Given the description of an element on the screen output the (x, y) to click on. 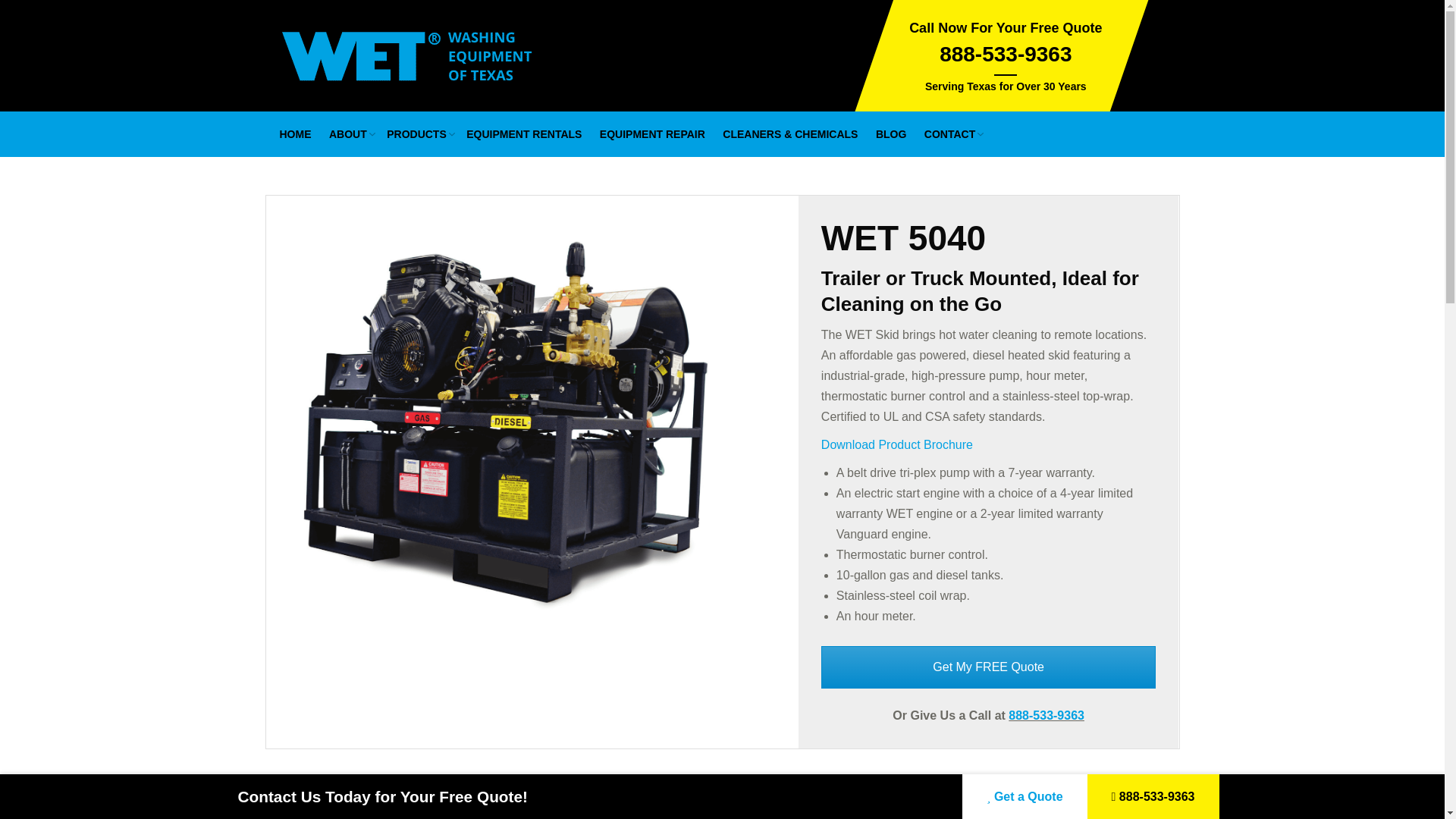
ABOUT (349, 134)
CONTACT (950, 134)
BLOG (891, 134)
888-533-9363 (1005, 54)
 888-533-9363 (1153, 796)
HOME (296, 135)
PRODUCTS (417, 134)
EQUIPMENT RENTALS (523, 134)
EQUIPMENT REPAIR (652, 134)
Contact Us (988, 667)
 Get a Quote (1024, 796)
